Given the description of an element on the screen output the (x, y) to click on. 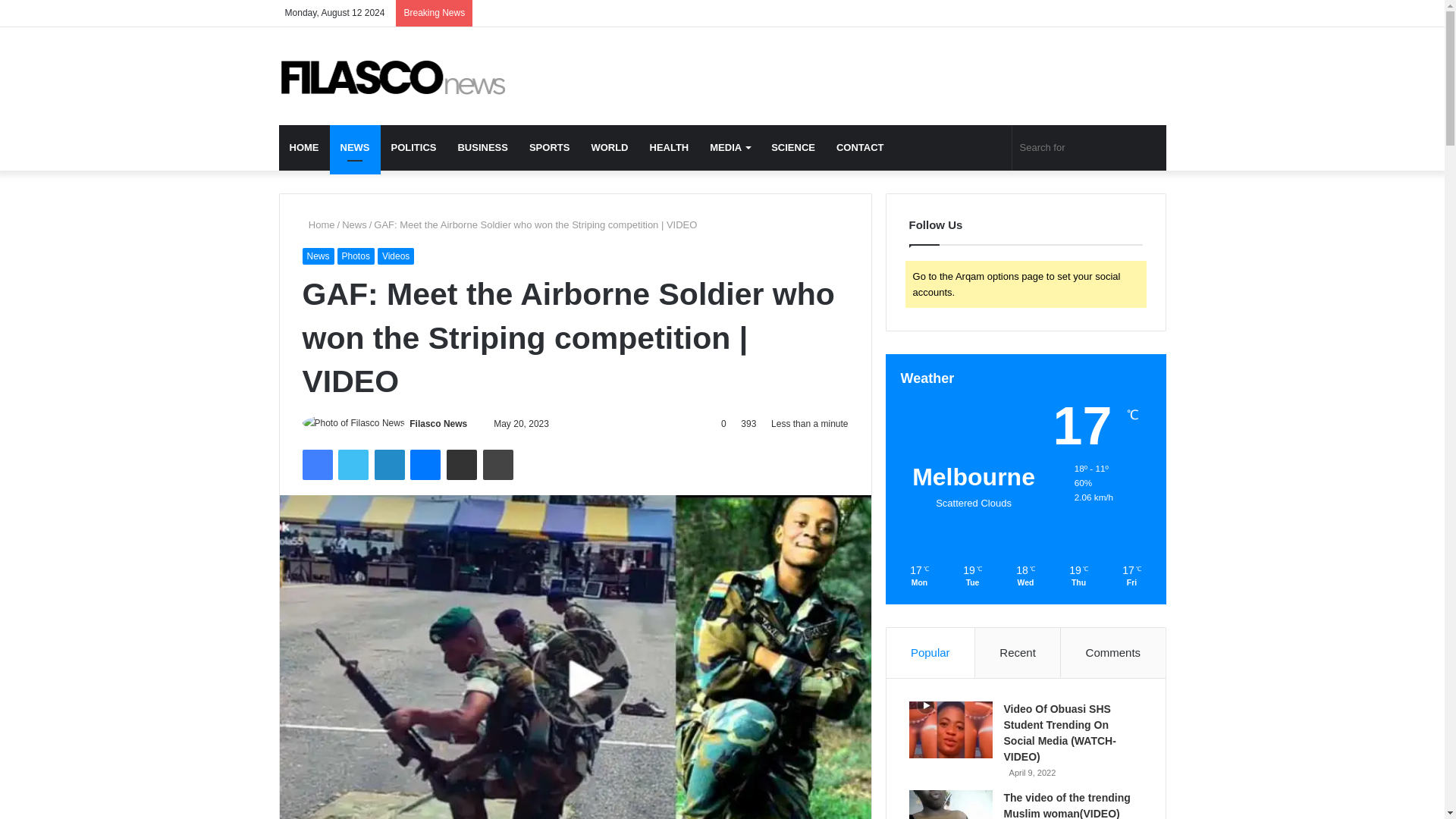
Filasco News (392, 76)
BUSINESS (482, 147)
Photos (355, 256)
POLITICS (413, 147)
WORLD (609, 147)
MEDIA (729, 147)
HEALTH (668, 147)
Messenger (425, 464)
News (354, 224)
Facebook (316, 464)
